Given the description of an element on the screen output the (x, y) to click on. 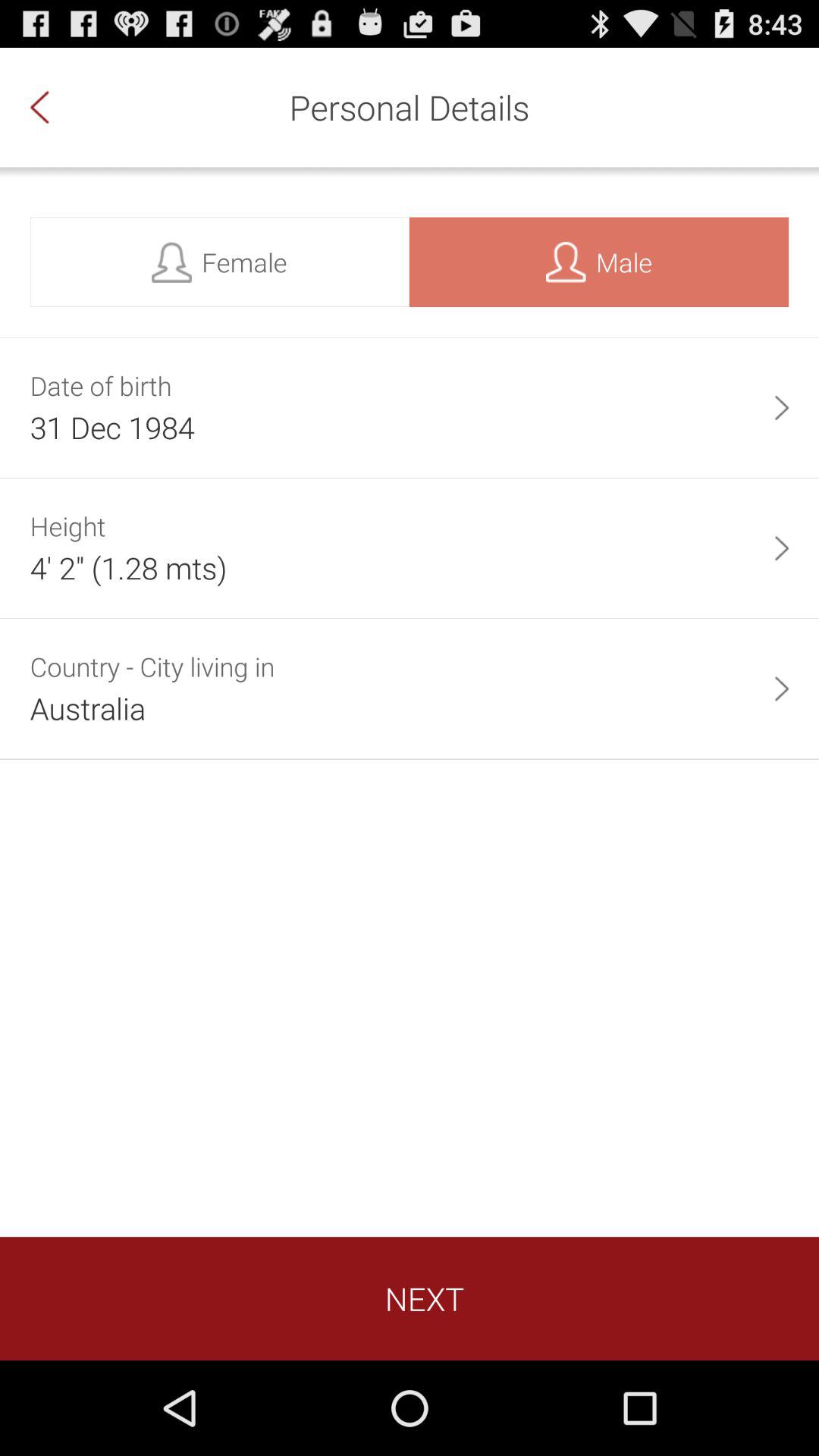
press the app to the left of personal details (55, 107)
